Given the description of an element on the screen output the (x, y) to click on. 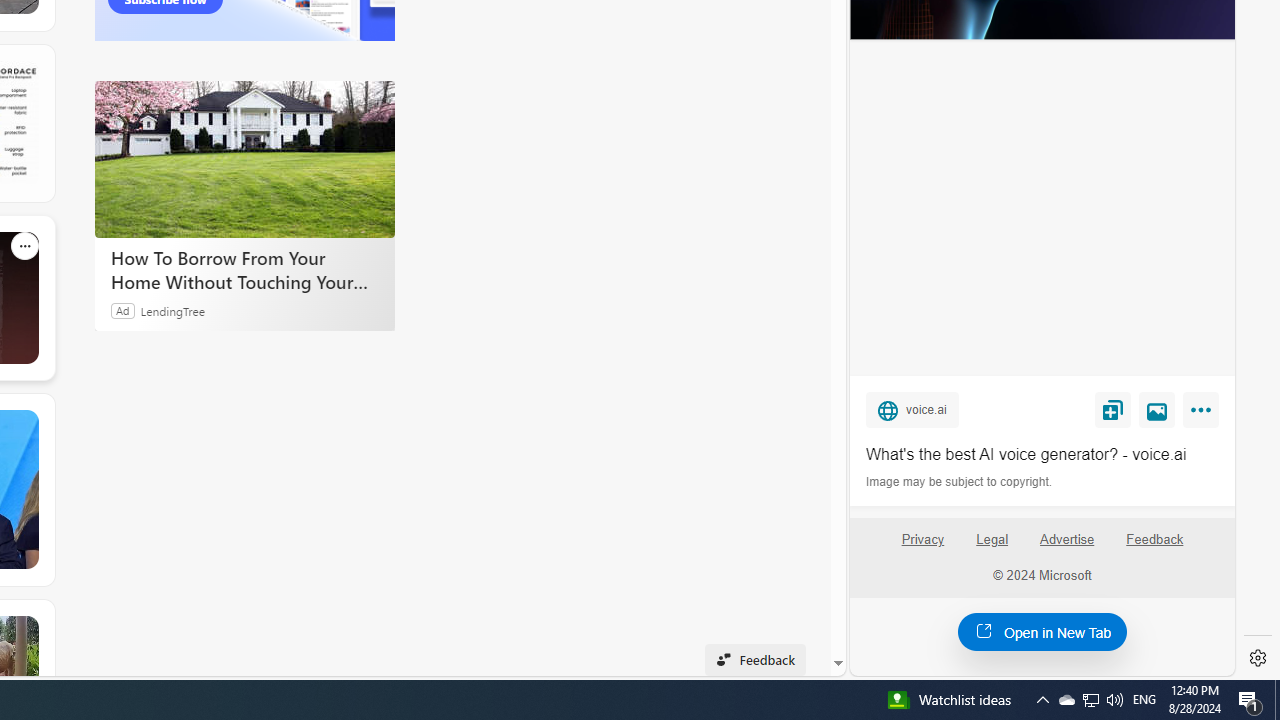
Settings (1258, 658)
Legal (992, 547)
Image may be subject to copyright. (959, 481)
Advertise (1067, 547)
Open in New Tab (1042, 631)
Legal (991, 539)
